Given the description of an element on the screen output the (x, y) to click on. 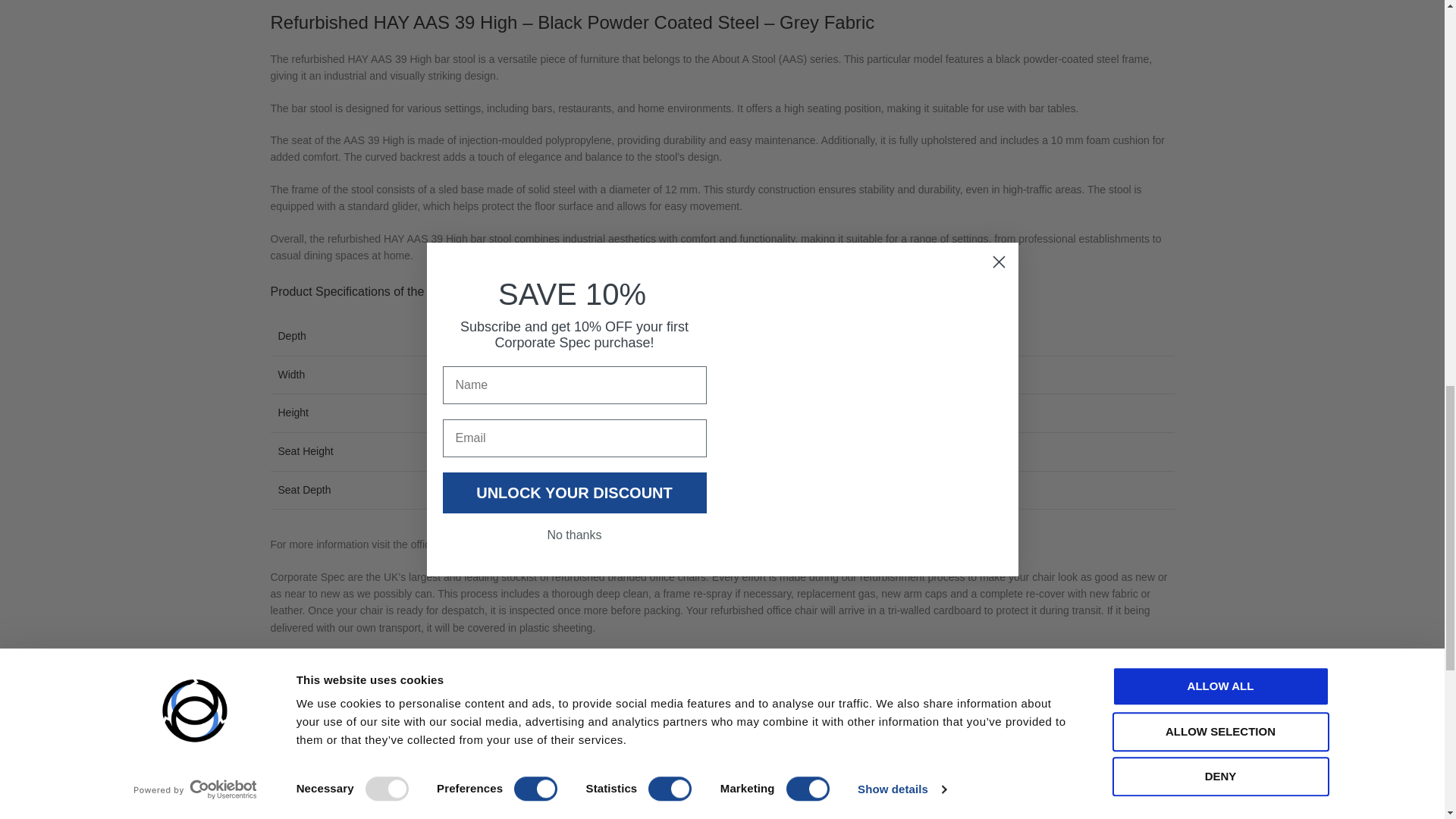
Comfort Italy (722, 765)
